Given the description of an element on the screen output the (x, y) to click on. 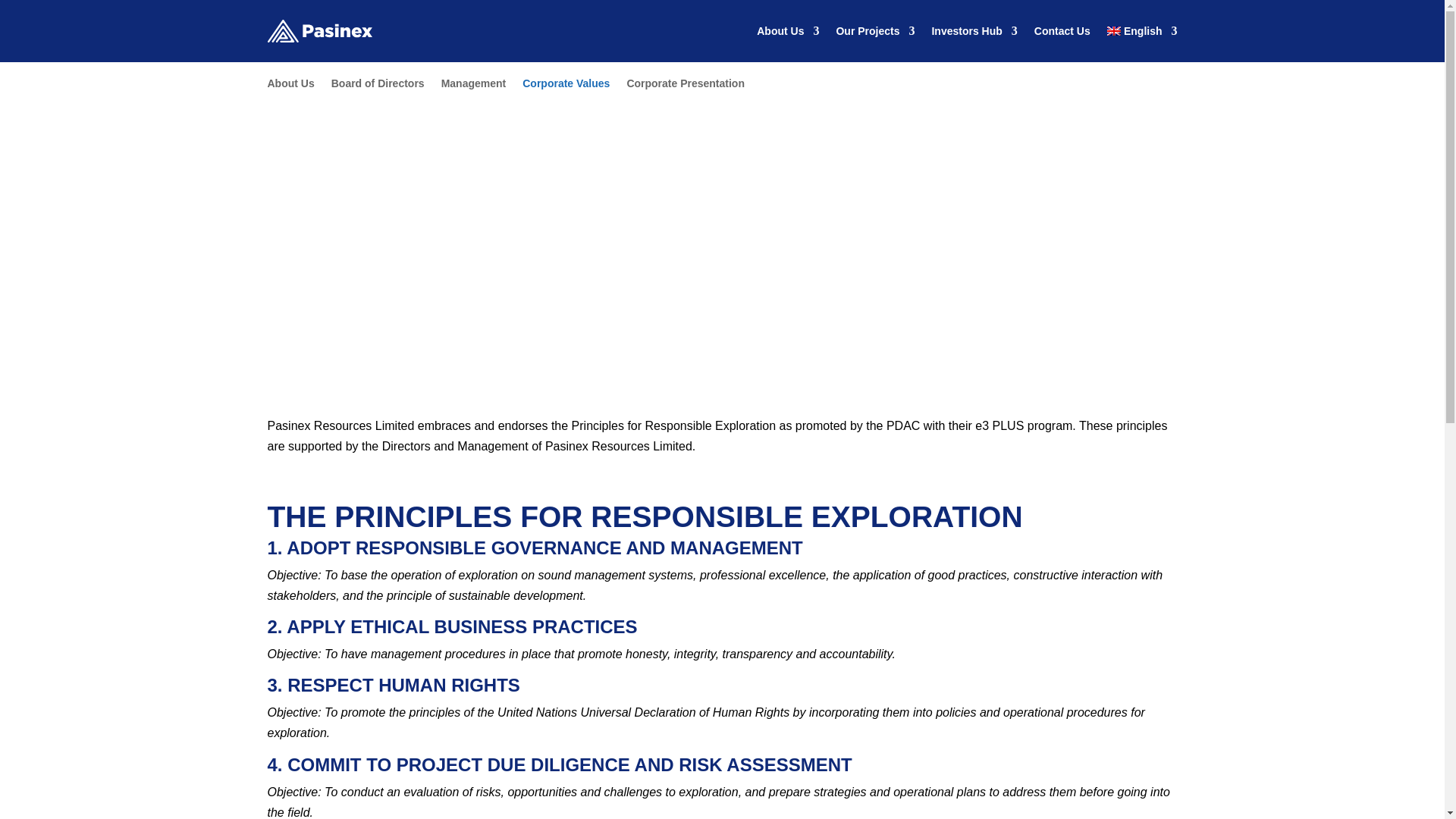
English (1141, 30)
Corporate Presentation (685, 86)
Board of Directors (378, 86)
Our Projects (874, 30)
Contact Us (1061, 30)
About Us (290, 86)
Investors Hub (973, 30)
About Us (787, 30)
Corporate Values (566, 86)
English (1141, 30)
Management (473, 86)
